Given the description of an element on the screen output the (x, y) to click on. 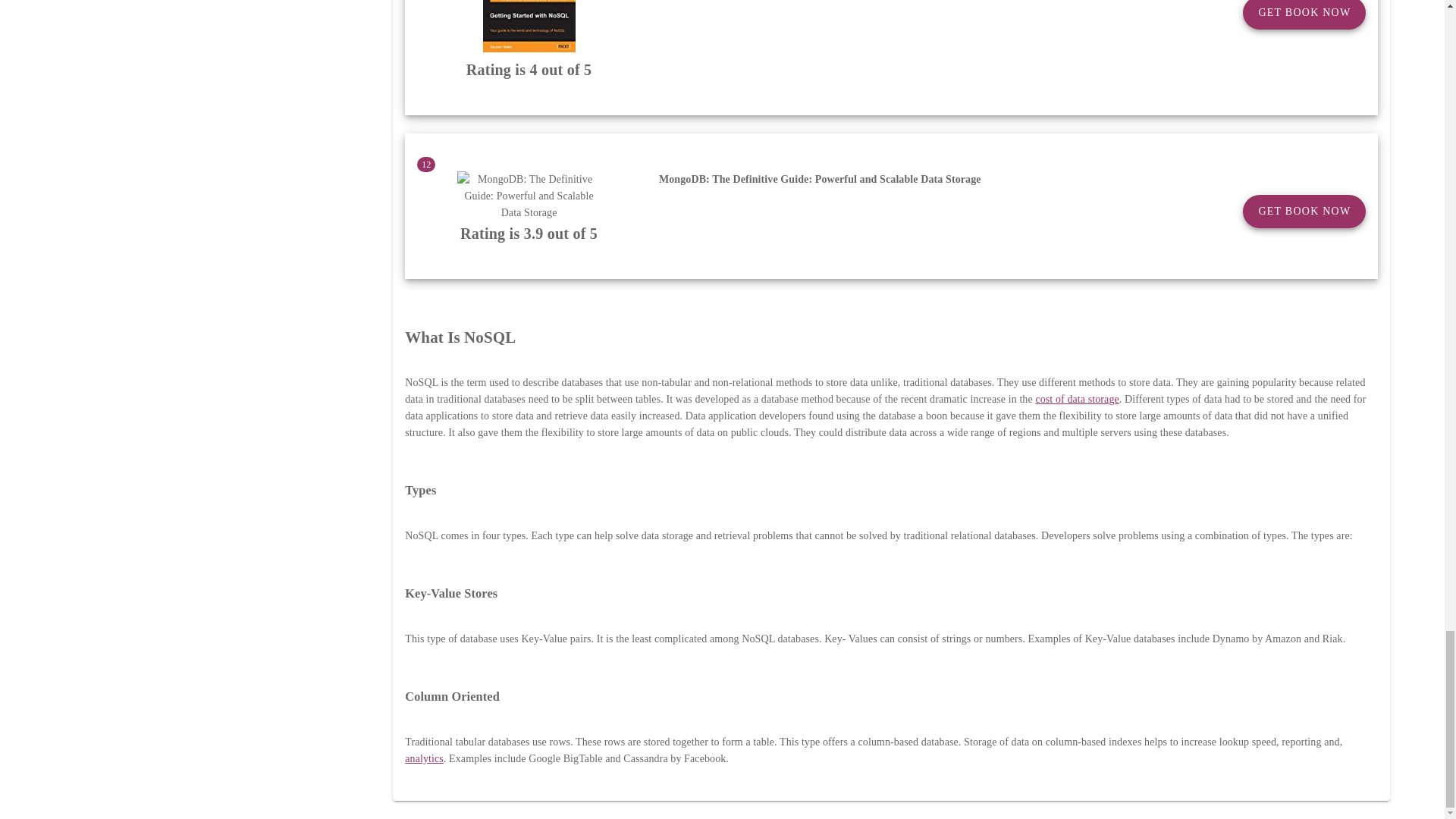
GET BOOK NOW (1304, 14)
